Given the description of an element on the screen output the (x, y) to click on. 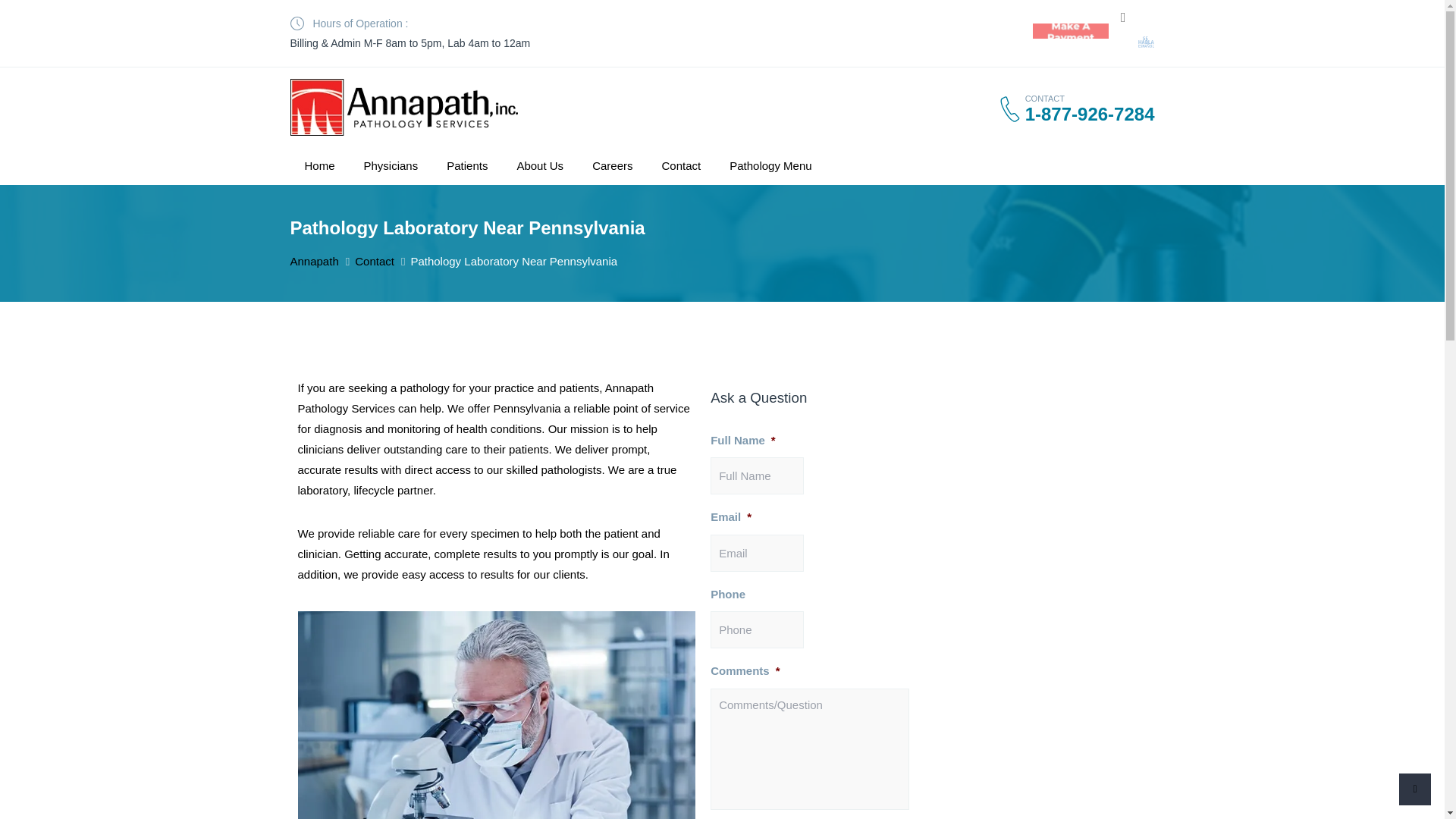
Pathology Menu (769, 165)
Contact (374, 260)
Home (319, 165)
Contact (680, 165)
About Us (540, 165)
Annapath (313, 260)
Physicians (390, 165)
Patients (467, 165)
Careers (612, 165)
